Given the description of an element on the screen output the (x, y) to click on. 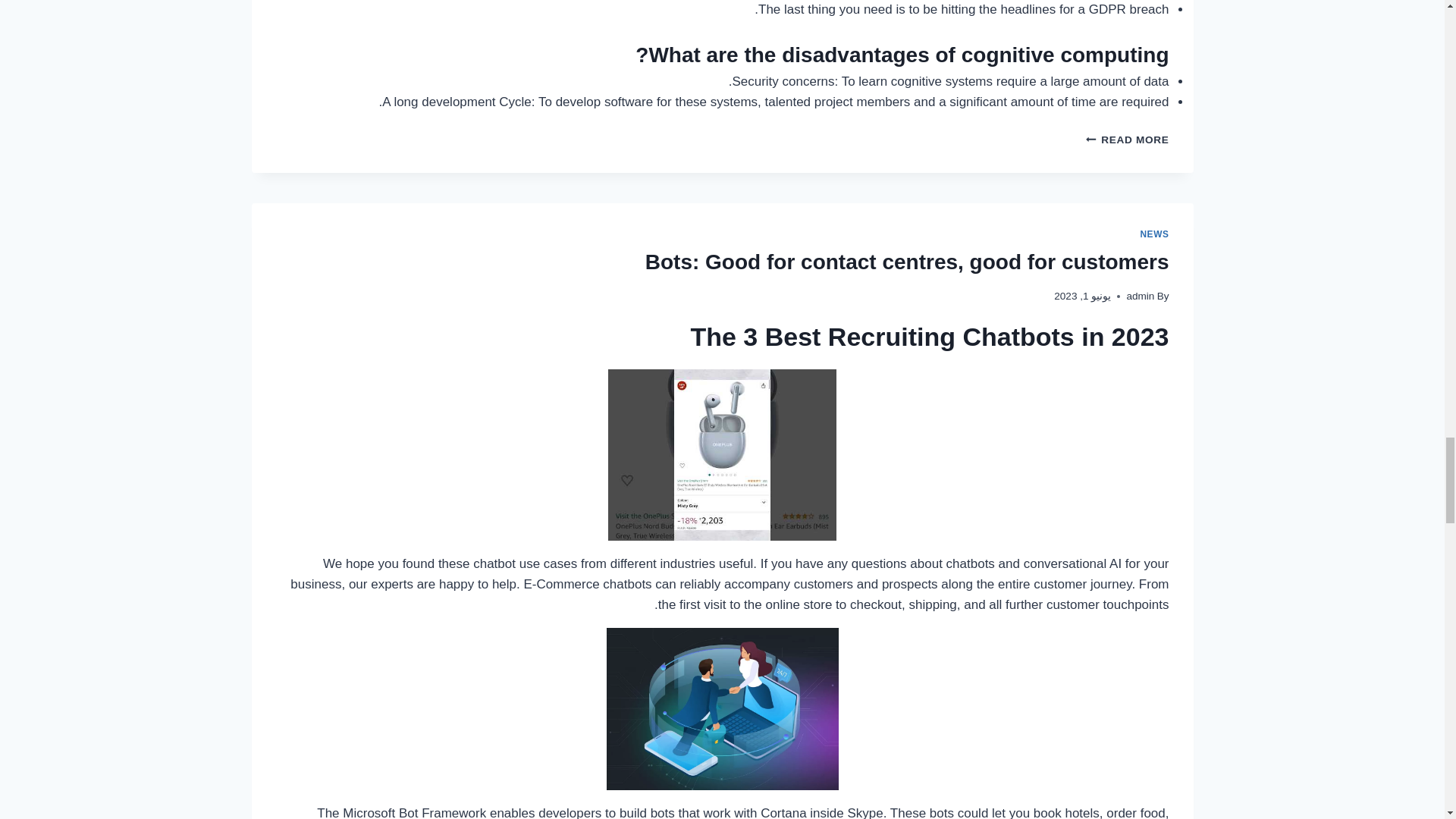
READ MORE (1127, 139)
NEWS (1154, 234)
admin (1139, 296)
Bots: Good for contact centres, good for customers (907, 261)
